Given the description of an element on the screen output the (x, y) to click on. 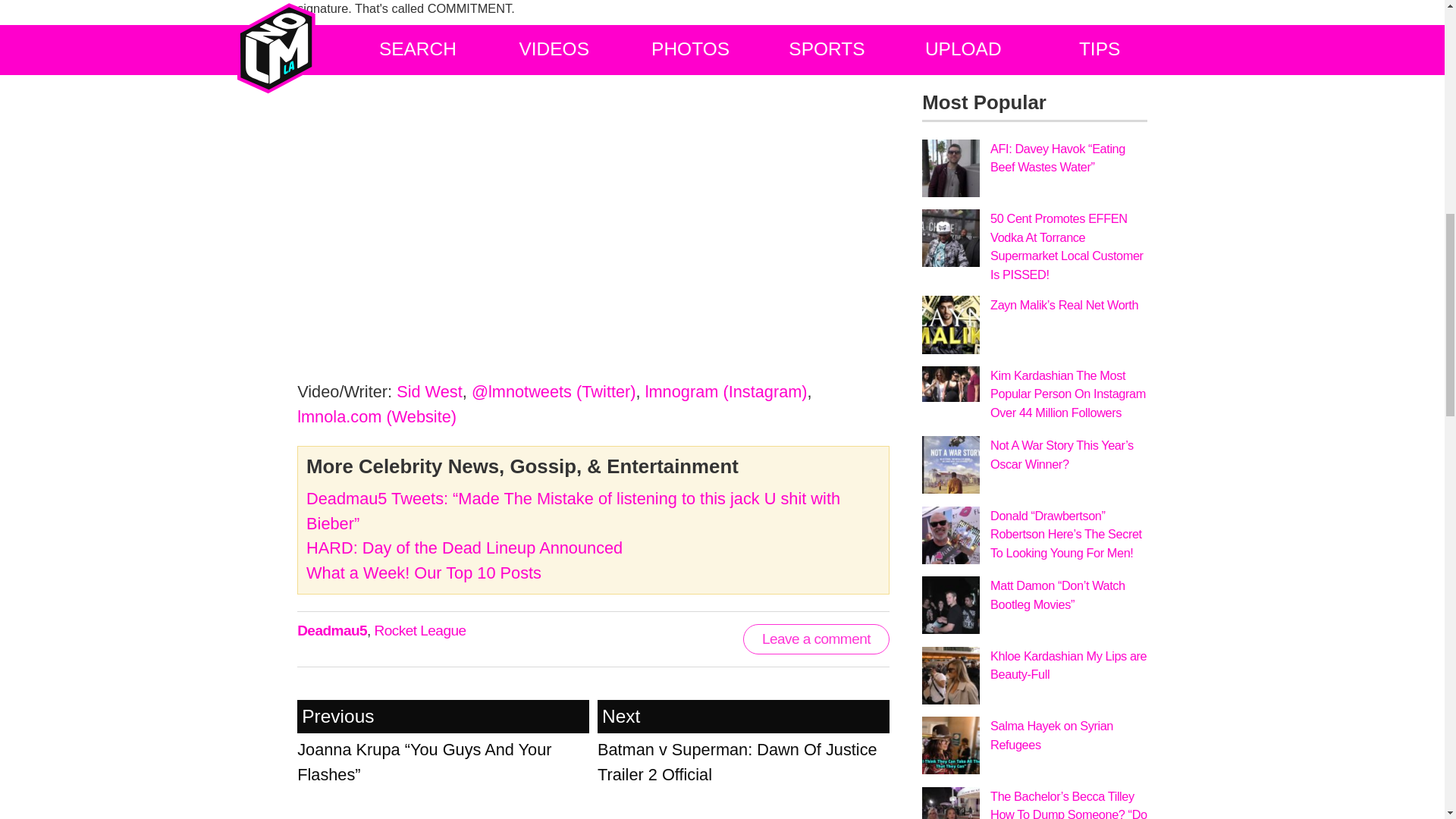
HARD: Day of the Dead Lineup Announced (464, 547)
Leave a comment (742, 741)
Rocket League (815, 639)
Deadmau5 (419, 630)
What a Week! Our Top 10 Posts (331, 630)
Advertisement (423, 572)
Sid West (593, 811)
